Given the description of an element on the screen output the (x, y) to click on. 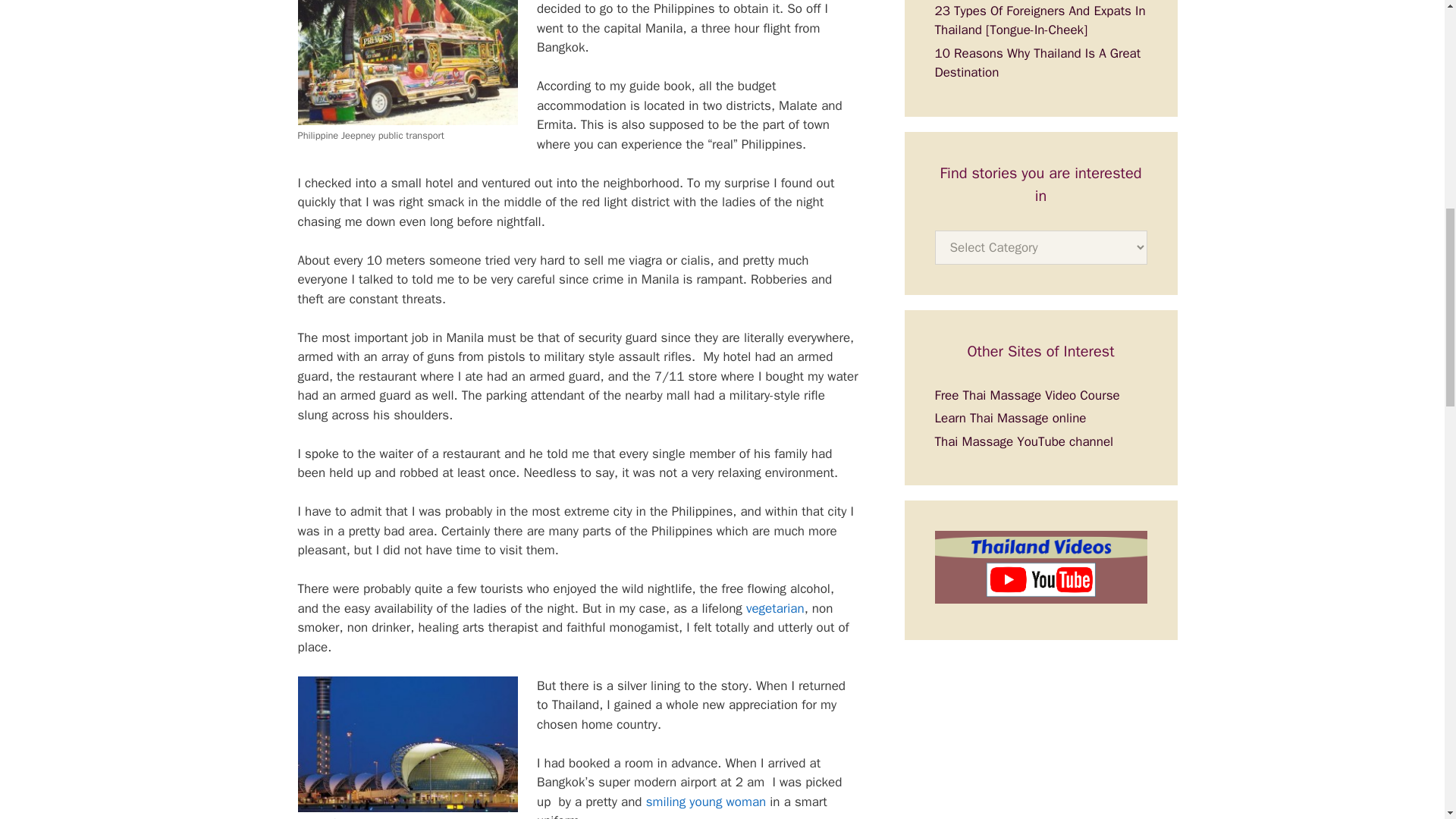
vegetarian (775, 608)
Bangkok Airport (406, 744)
Scroll back to top (1406, 720)
smiling young woman (706, 801)
download a free 6 part Thai massage video course (1026, 395)
A jeepney in the Philippines (406, 62)
Videos about Thai Massage (1023, 441)
